Given the description of an element on the screen output the (x, y) to click on. 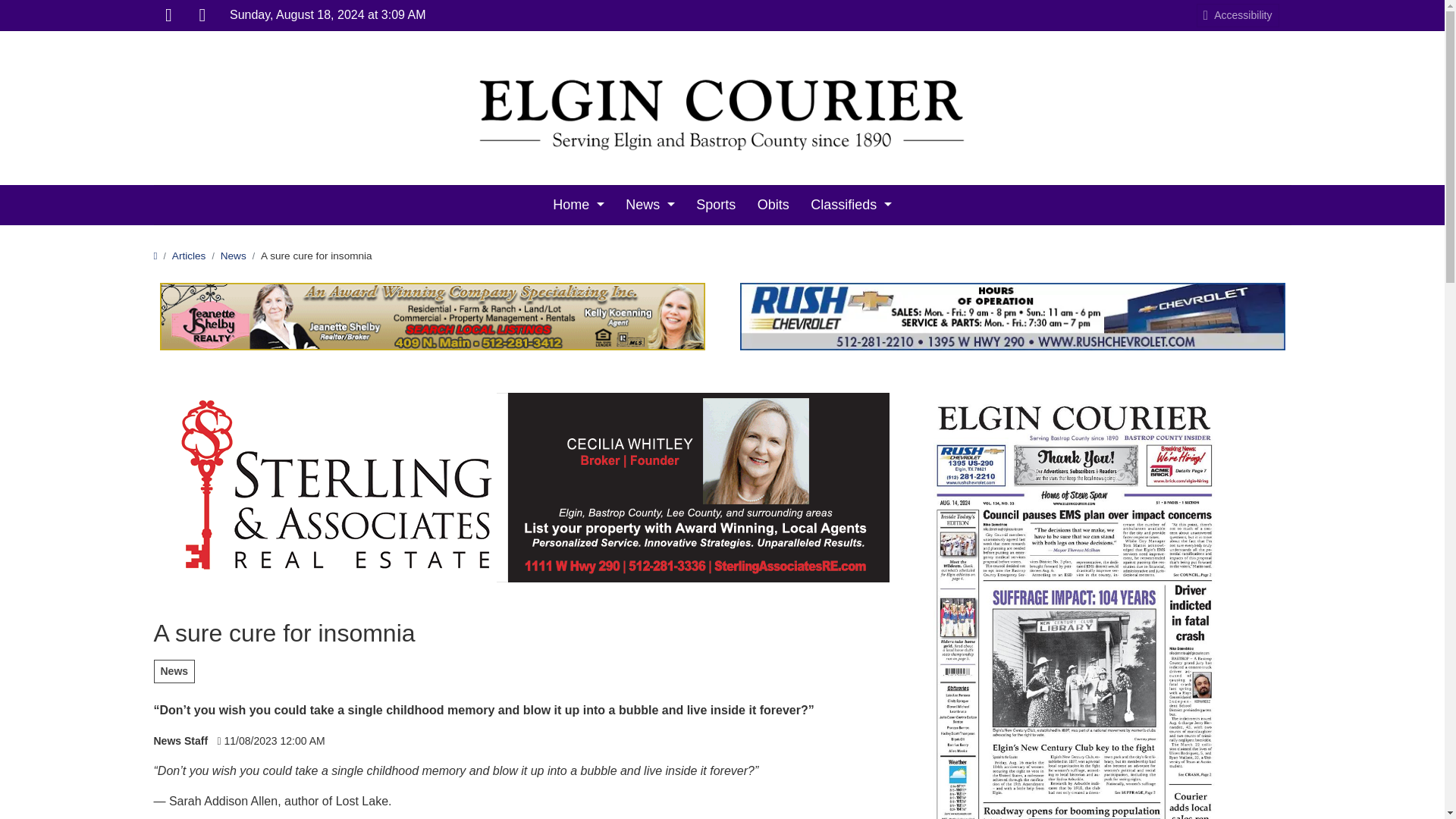
News (649, 204)
Classifieds (851, 204)
News (233, 255)
Go to X.com (201, 15)
Sports (715, 204)
Articles (188, 255)
Go to Facebook.com (167, 15)
Accessibility (1237, 14)
Obits (772, 204)
Home (577, 204)
